Given the description of an element on the screen output the (x, y) to click on. 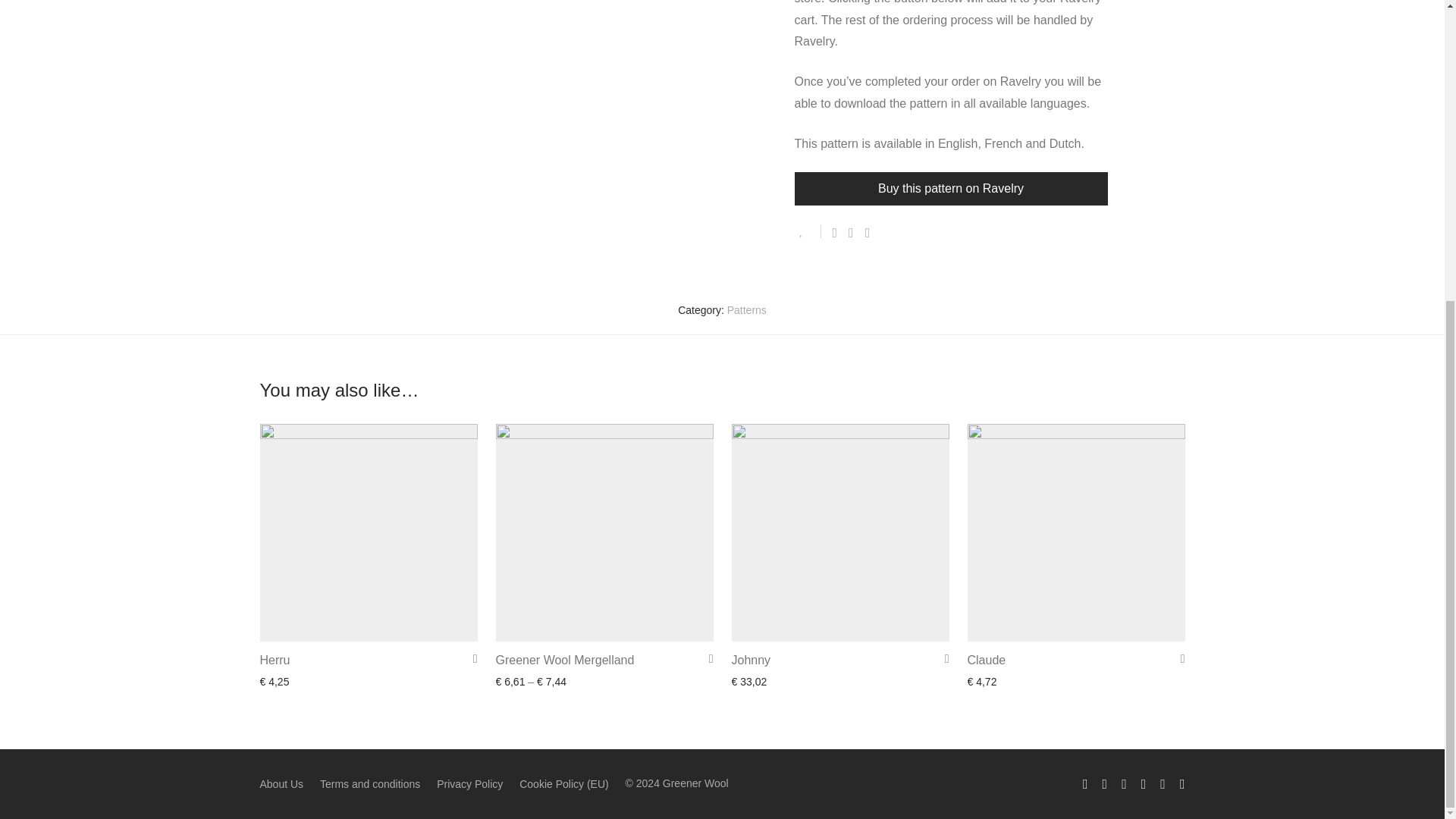
Add to Wishlist (470, 658)
Johnny (750, 659)
Greener Wool Mergelland (565, 659)
Patterns (746, 309)
Buy this pattern on Ravelry (951, 188)
Add to Wishlist (807, 231)
Claude (987, 659)
Herru (274, 659)
